Given the description of an element on the screen output the (x, y) to click on. 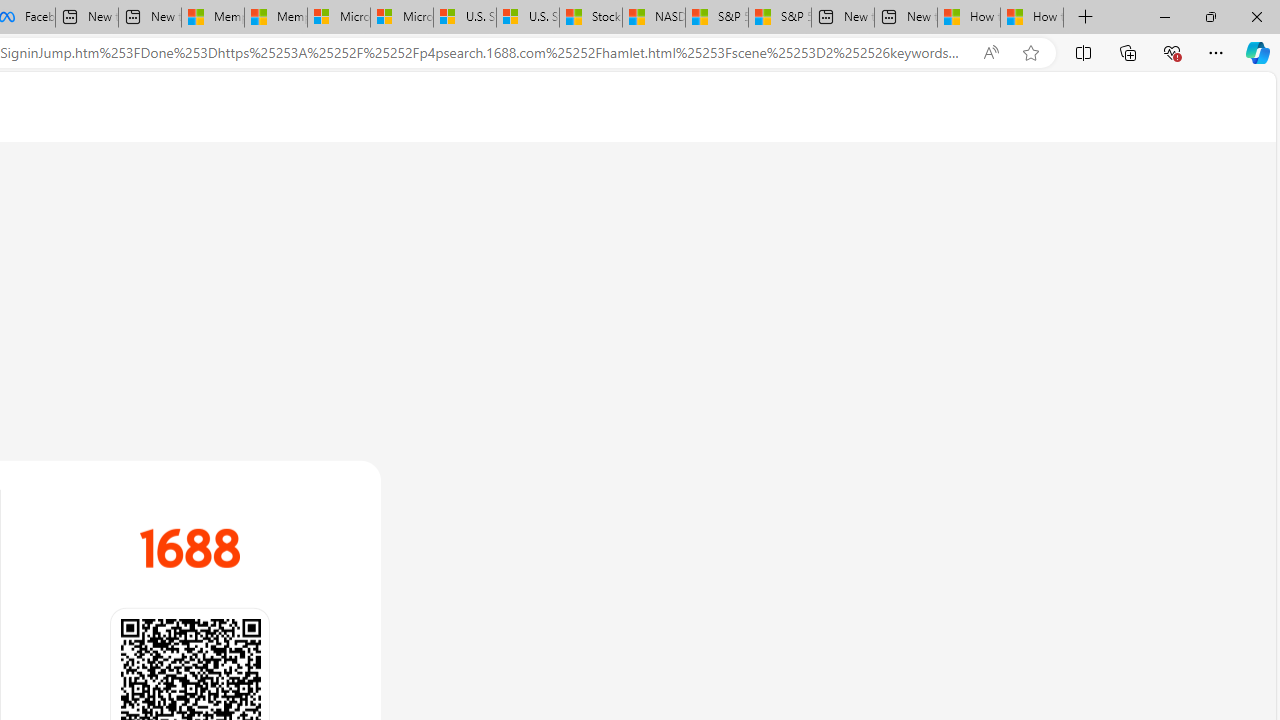
Minimize (1164, 16)
Read aloud this page (Ctrl+Shift+U) (991, 53)
To get missing image descriptions, open the context menu. (189, 547)
S&P 500, Nasdaq end lower, weighed by Nvidia dip | Watch (779, 17)
Collections (1128, 52)
